Given the description of an element on the screen output the (x, y) to click on. 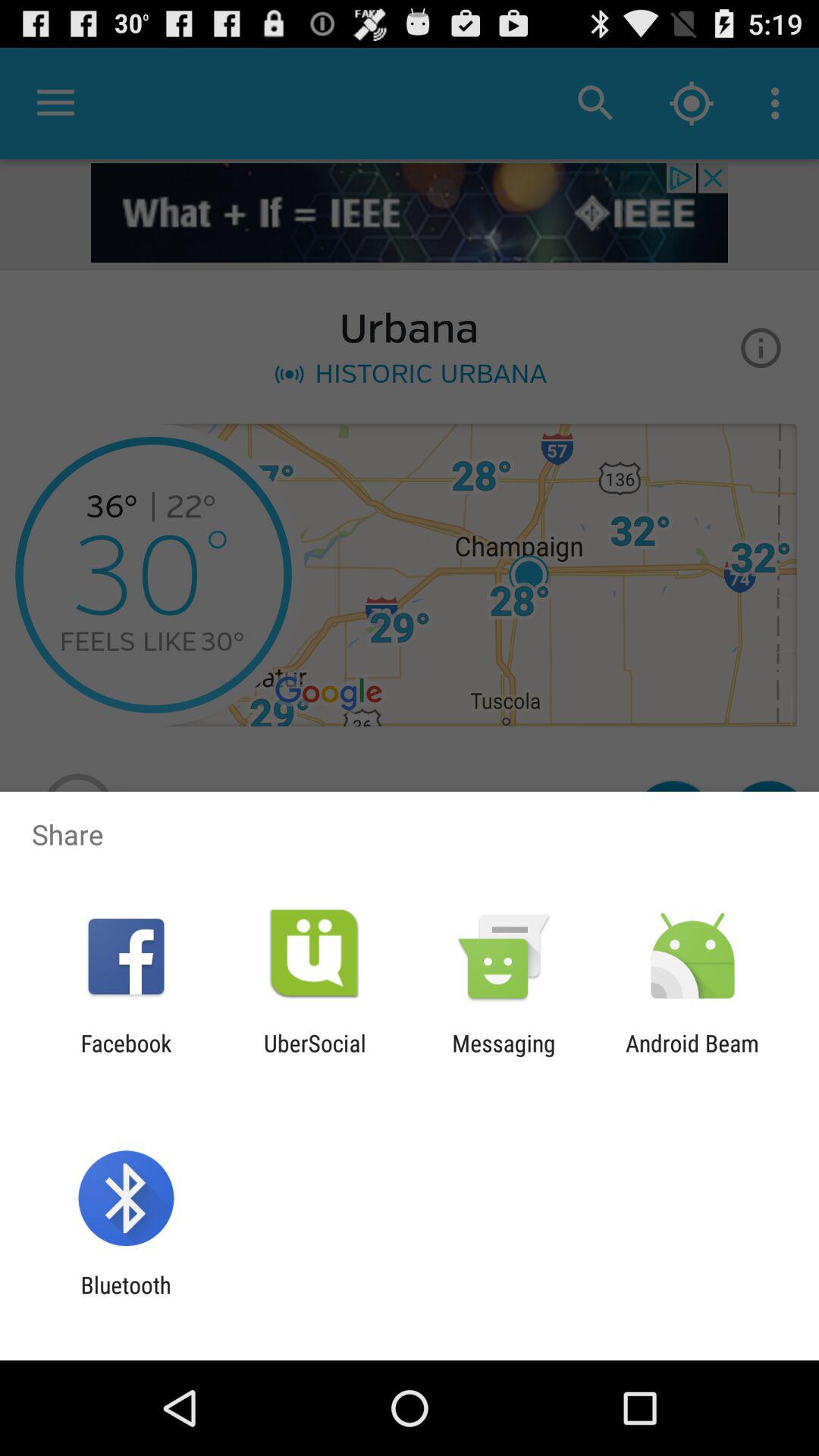
turn on the item next to messaging (314, 1056)
